Given the description of an element on the screen output the (x, y) to click on. 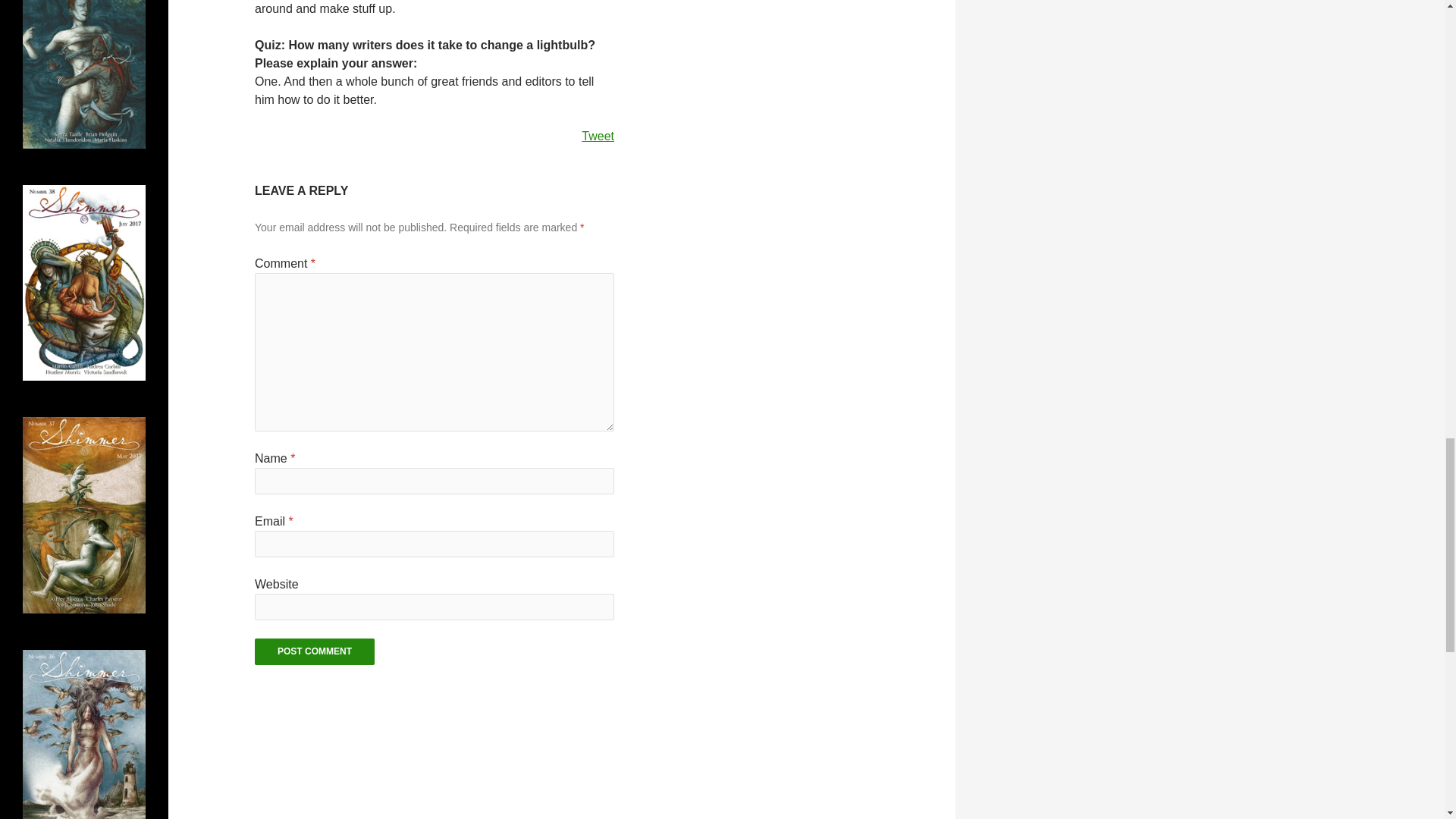
Post Comment (314, 651)
Tweet (597, 135)
Post Comment (314, 651)
